Given the description of an element on the screen output the (x, y) to click on. 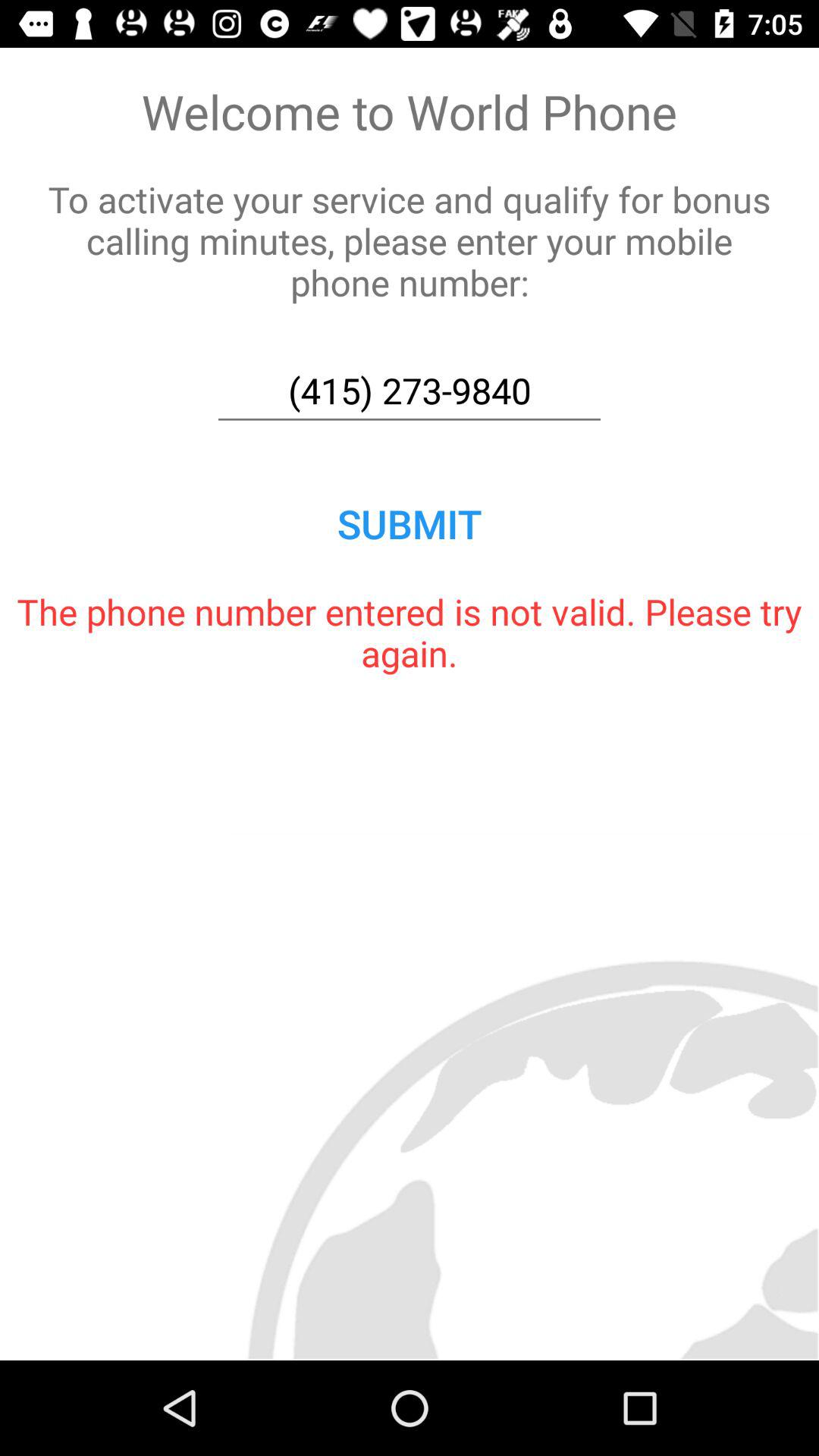
open the submit (409, 523)
